Given the description of an element on the screen output the (x, y) to click on. 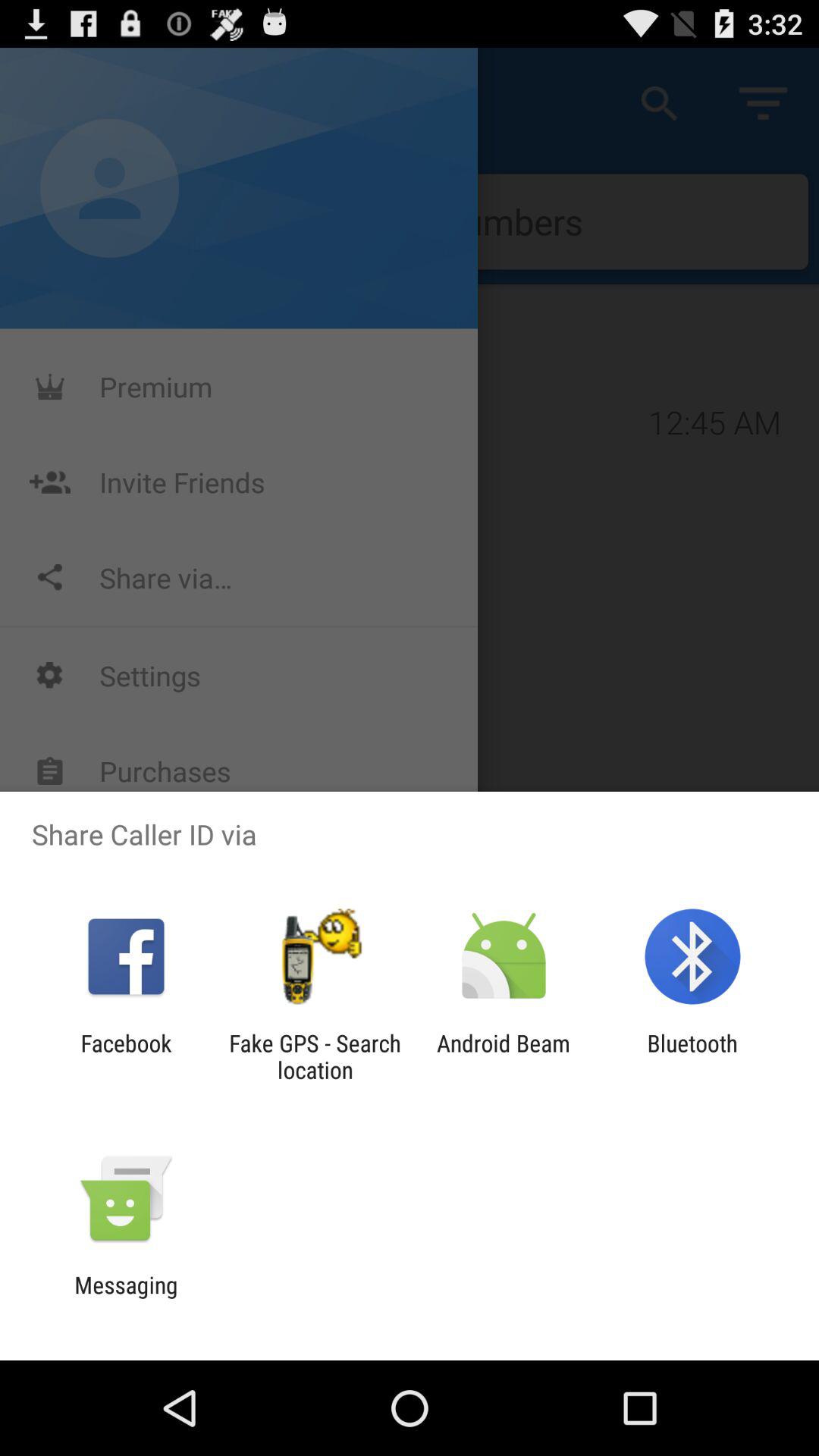
click the app to the left of the fake gps search icon (125, 1056)
